Given the description of an element on the screen output the (x, y) to click on. 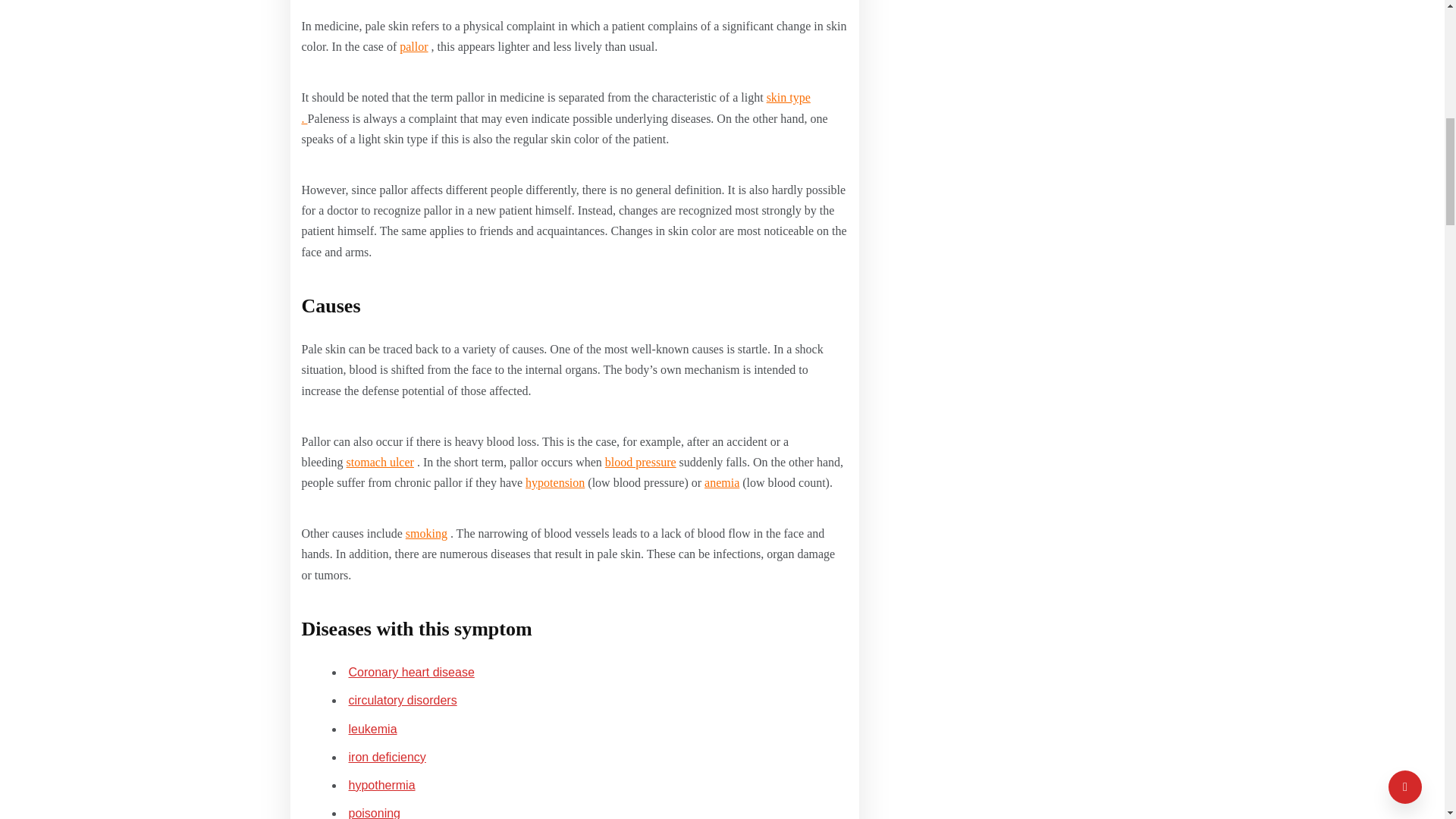
paleness (413, 46)
skin type (555, 107)
pallor (413, 46)
